Given the description of an element on the screen output the (x, y) to click on. 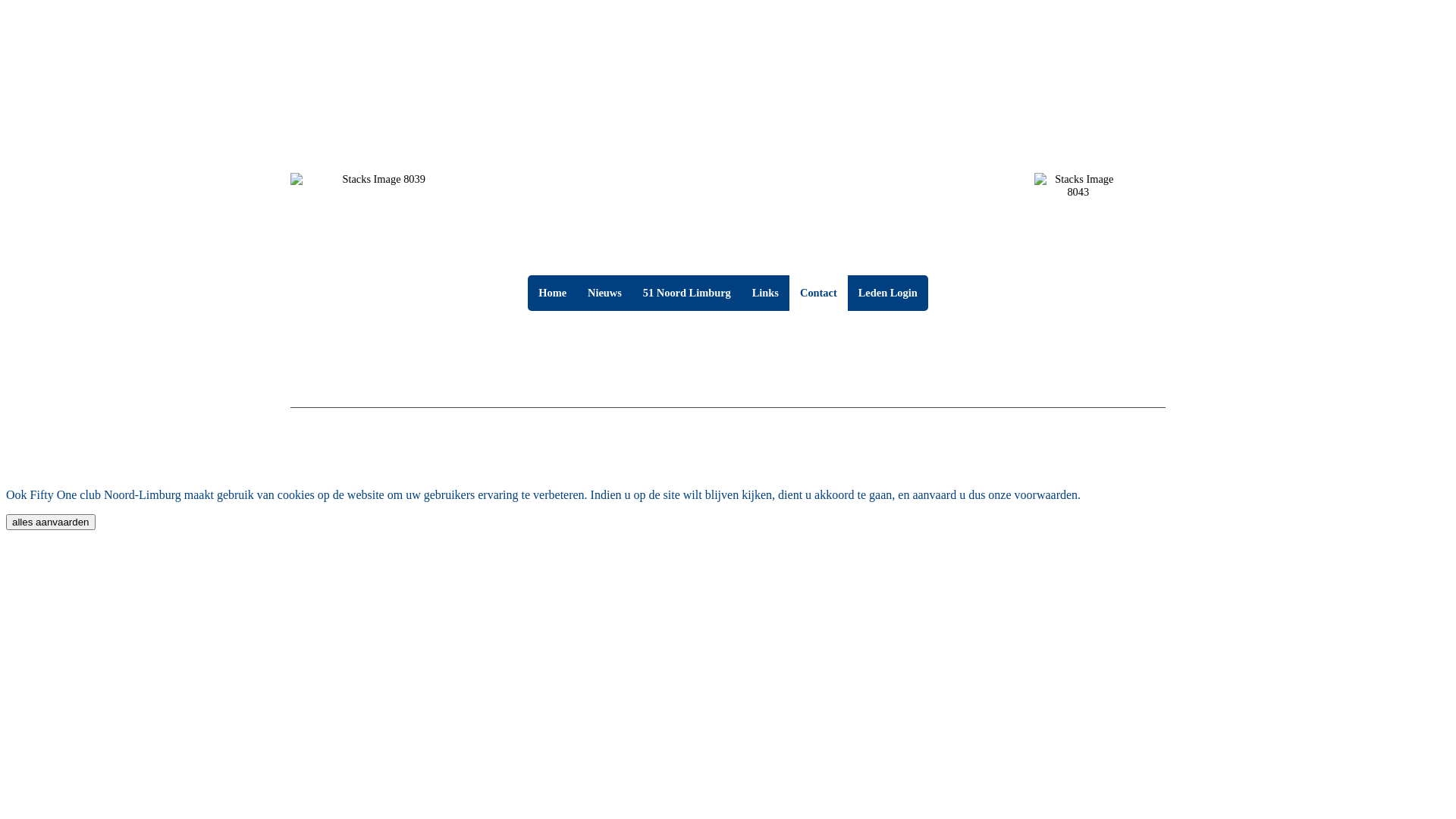
Home Element type: text (552, 292)
Leden Login Element type: text (887, 292)
Contact Element type: text (818, 292)
51 Noord Limburg Element type: text (686, 292)
Links Element type: text (765, 292)
Nieuws Element type: text (604, 292)
alles aanvaarden Element type: text (50, 522)
